Given the description of an element on the screen output the (x, y) to click on. 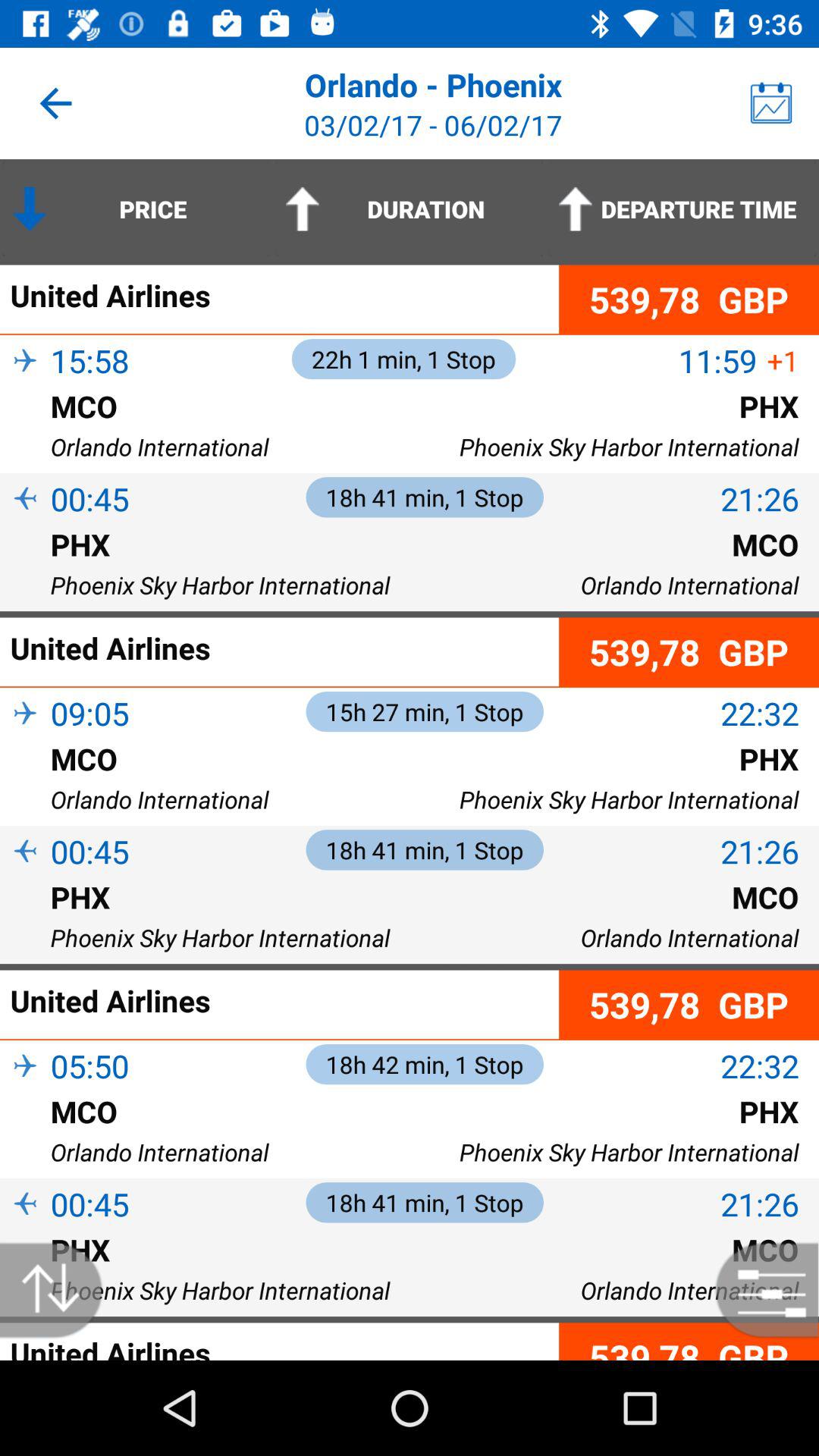
click item next to the duration icon (682, 208)
